Given the description of an element on the screen output the (x, y) to click on. 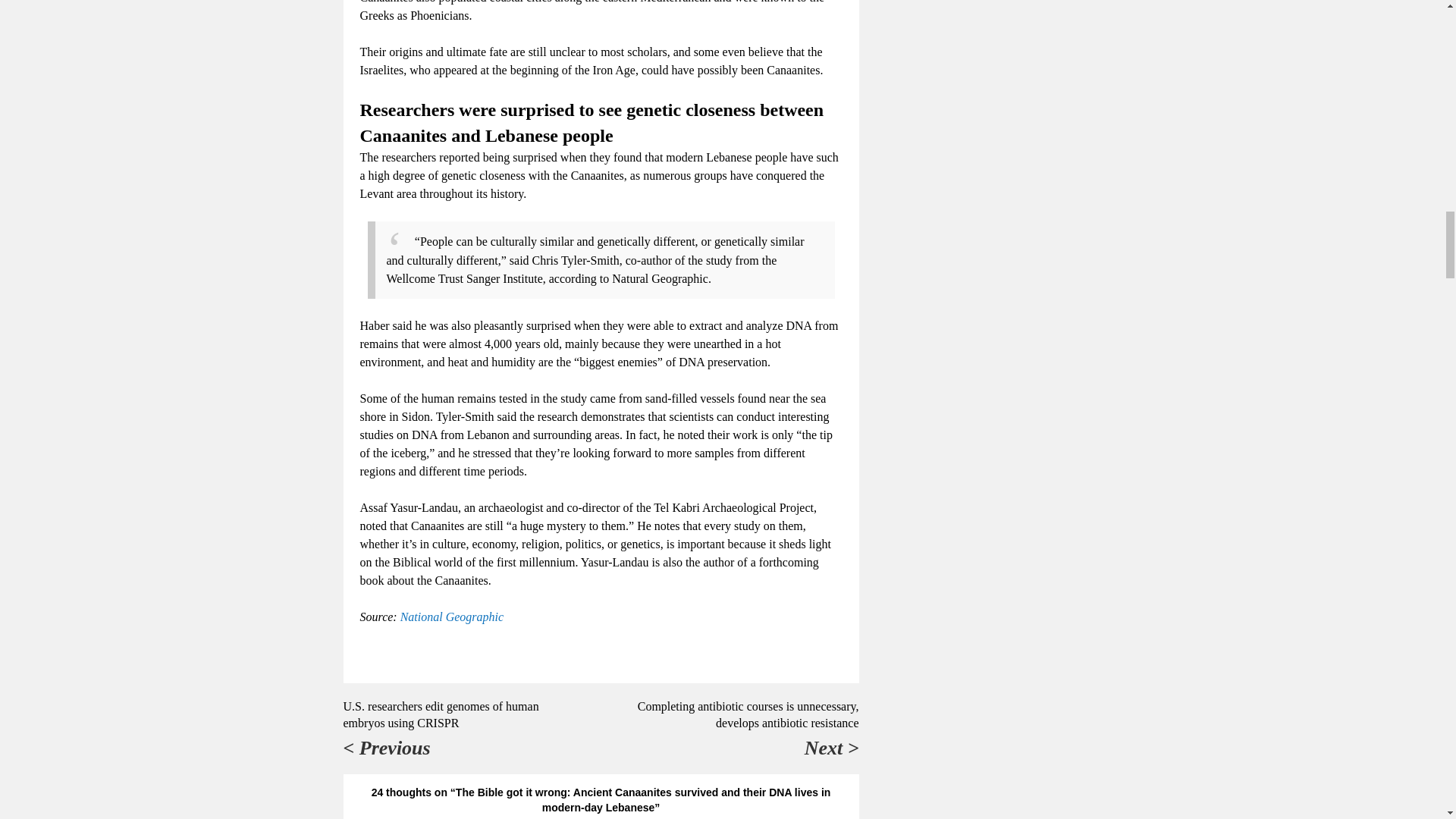
U.S. researchers edit genomes of human embryos using CRISPR (440, 714)
National Geographic (451, 616)
